Given the description of an element on the screen output the (x, y) to click on. 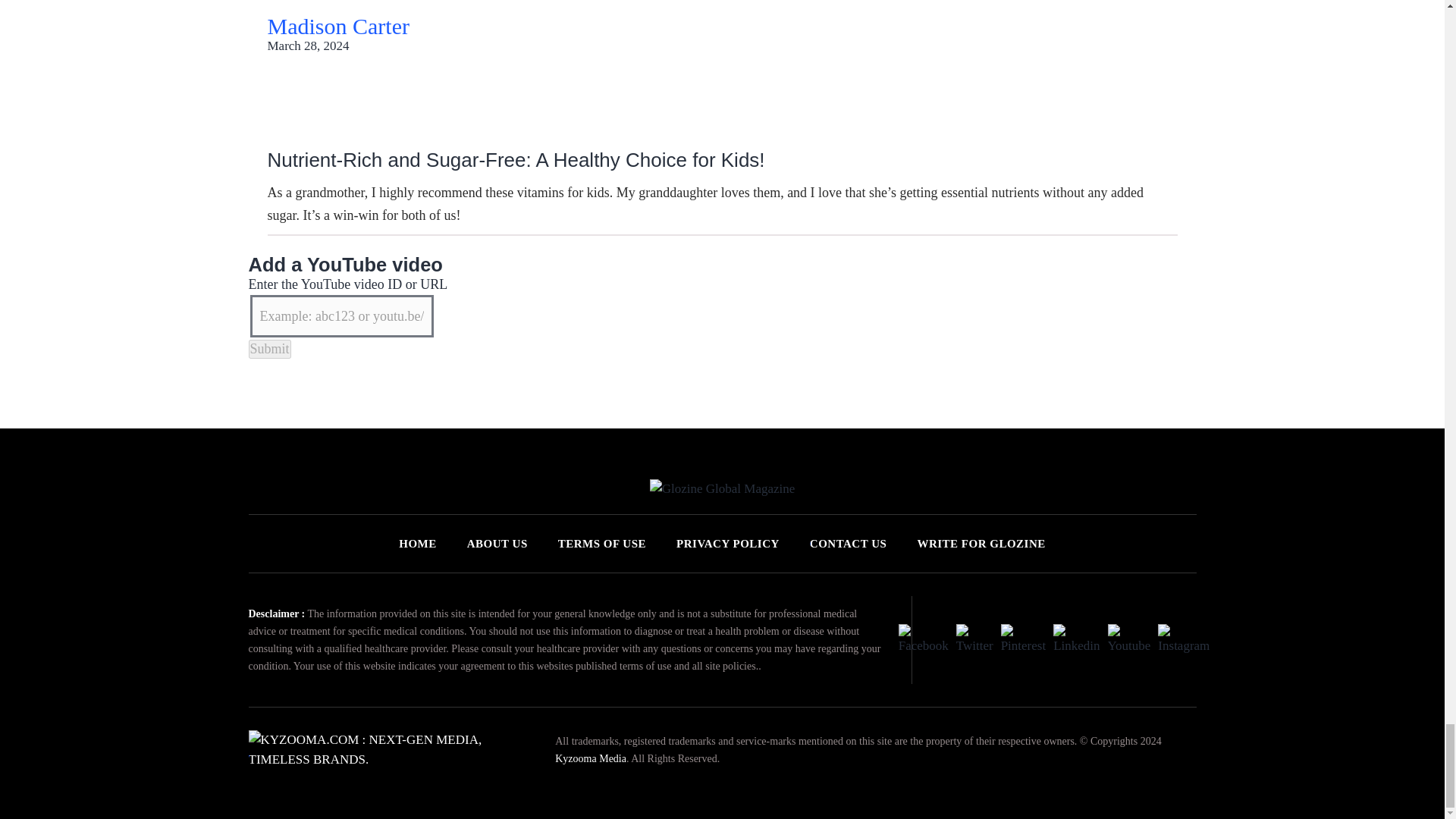
Submit (269, 348)
